Given the description of an element on the screen output the (x, y) to click on. 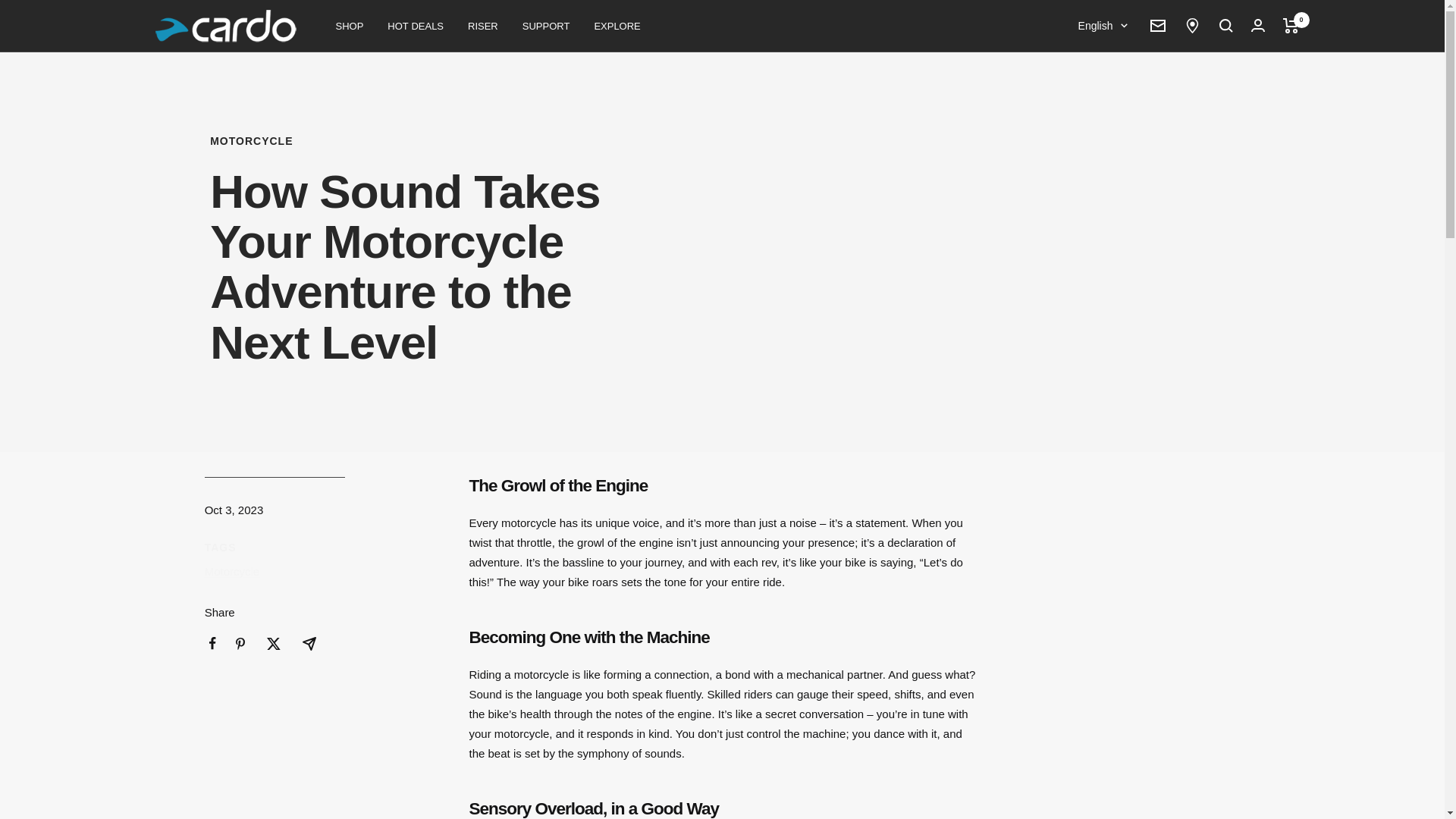
fr (1093, 103)
Support (546, 24)
de (1093, 127)
MOTORCYCLE (438, 141)
it (1093, 152)
Hot Deals (415, 24)
Motorcycle (232, 571)
Cardo Systems (224, 25)
0 (1290, 25)
Explore (617, 24)
